Given the description of an element on the screen output the (x, y) to click on. 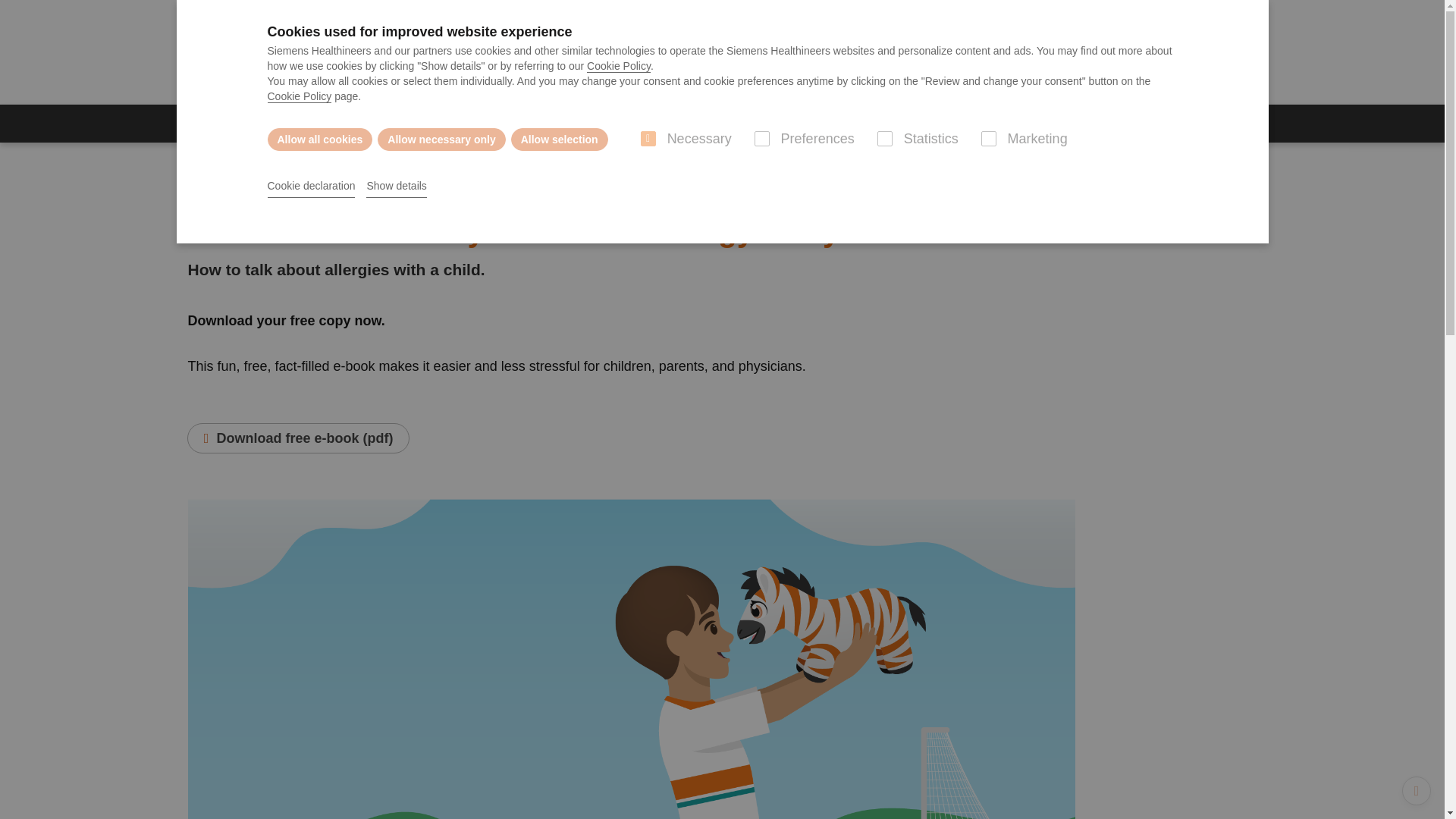
Cookie Policy (298, 96)
Cookie declaration (310, 186)
Allow necessary only (441, 138)
Allow selection (559, 138)
Cookie Policy (618, 65)
Allow all cookies (319, 138)
Show details (396, 186)
